Given the description of an element on the screen output the (x, y) to click on. 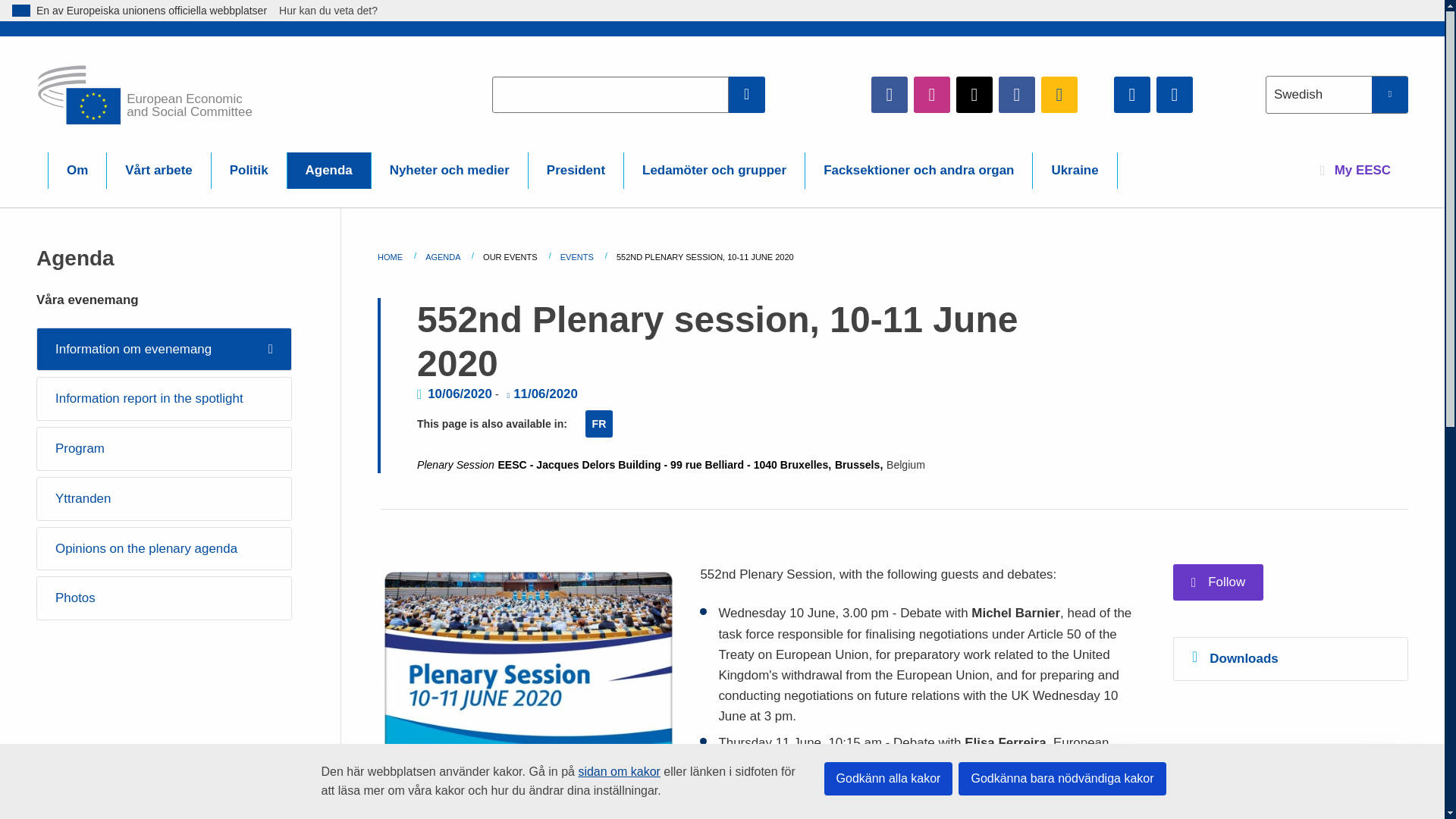
sidan om kakor (619, 771)
Hur kan du veta det? (335, 10)
My EESC (1355, 170)
Search EESC Website (747, 94)
